Given the description of an element on the screen output the (x, y) to click on. 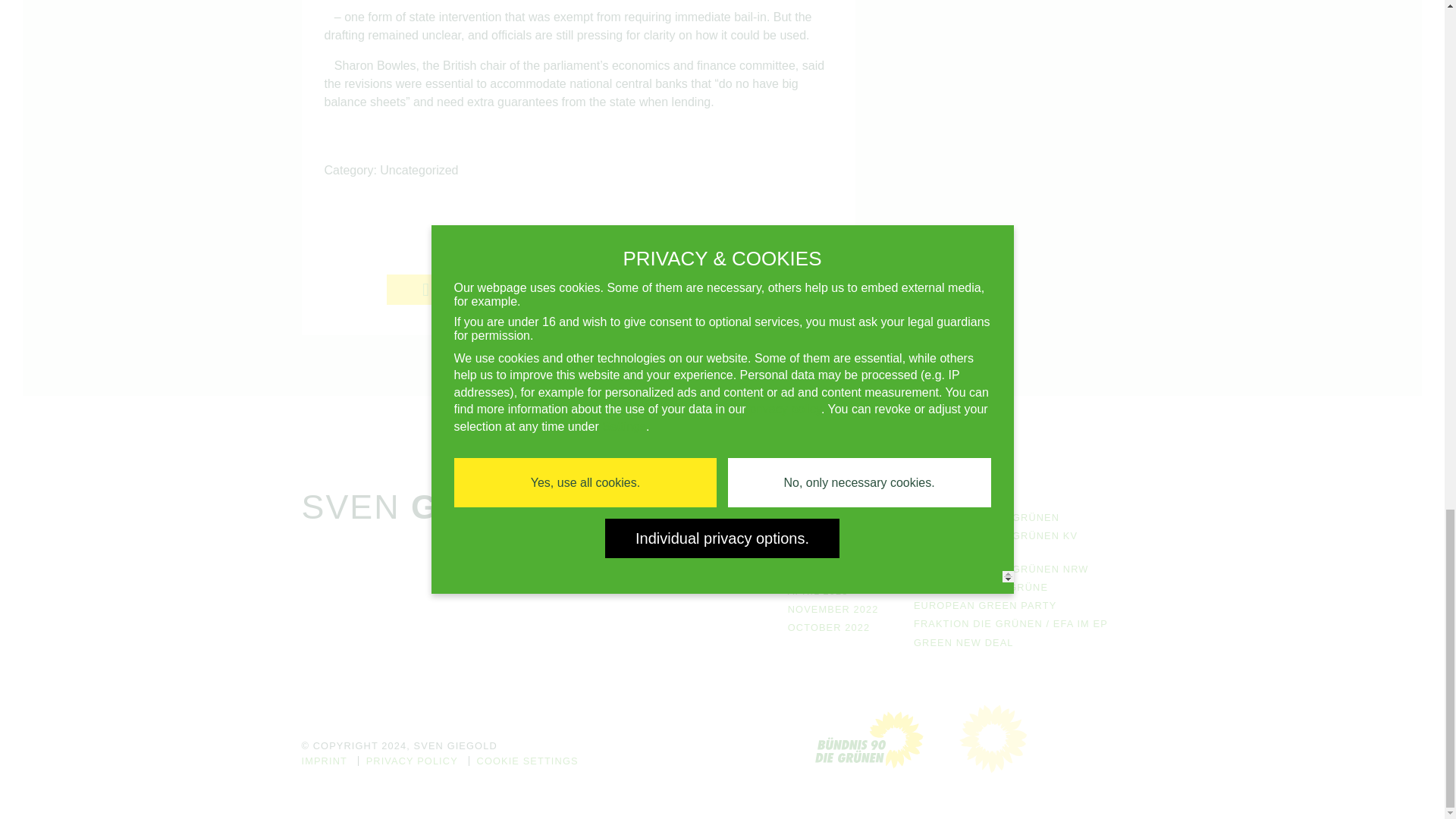
AUGUST 2023 (824, 517)
share (447, 289)
CONTACT (687, 572)
Send by email (708, 289)
JULY 2023 (815, 535)
MY TOPICS (691, 554)
Share on Facebook (447, 289)
MAY 2023 (813, 572)
APRIL 2023 (817, 591)
JUNE 2023 (816, 554)
